Given the description of an element on the screen output the (x, y) to click on. 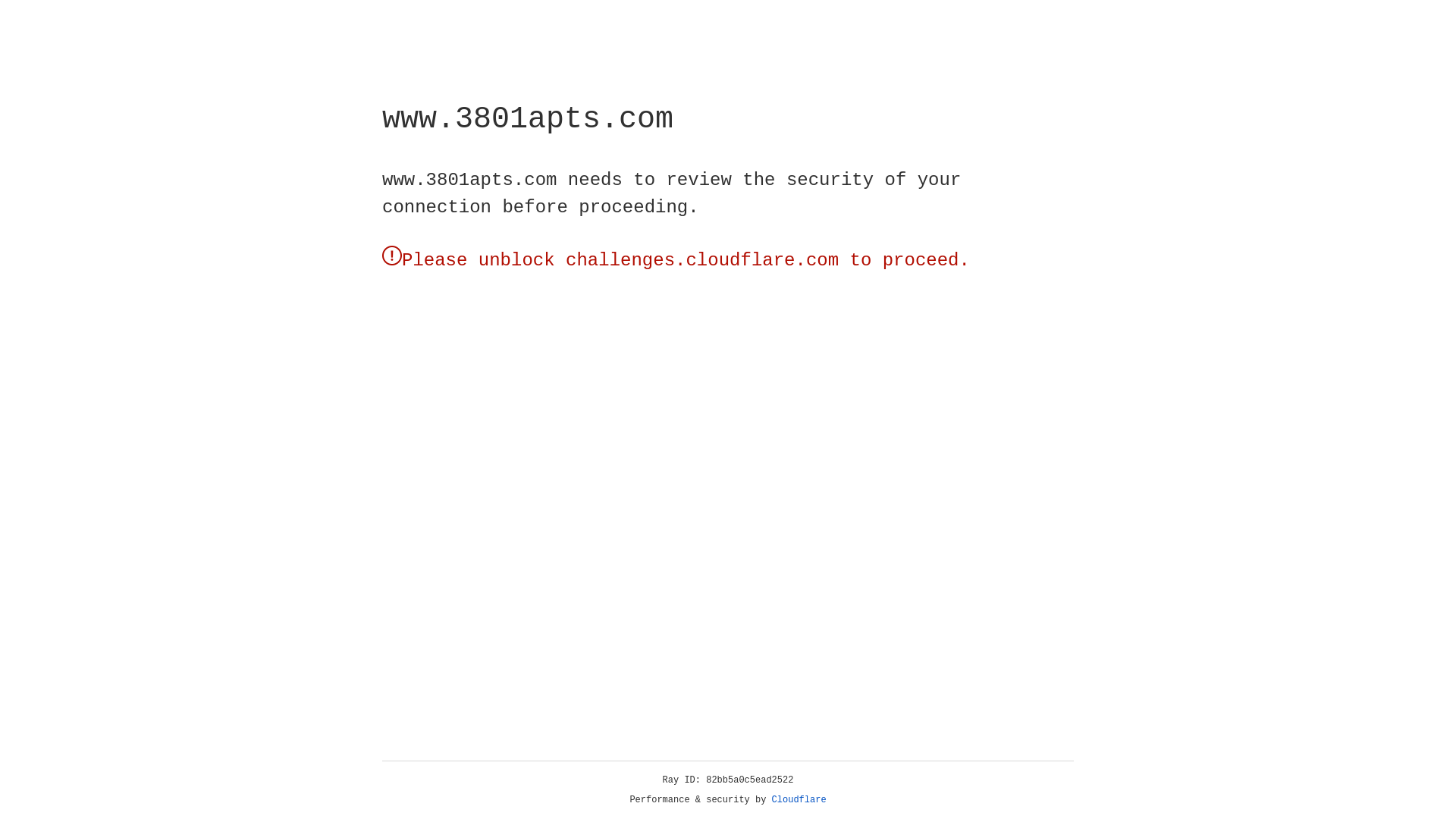
Cloudflare Element type: text (798, 799)
